Given the description of an element on the screen output the (x, y) to click on. 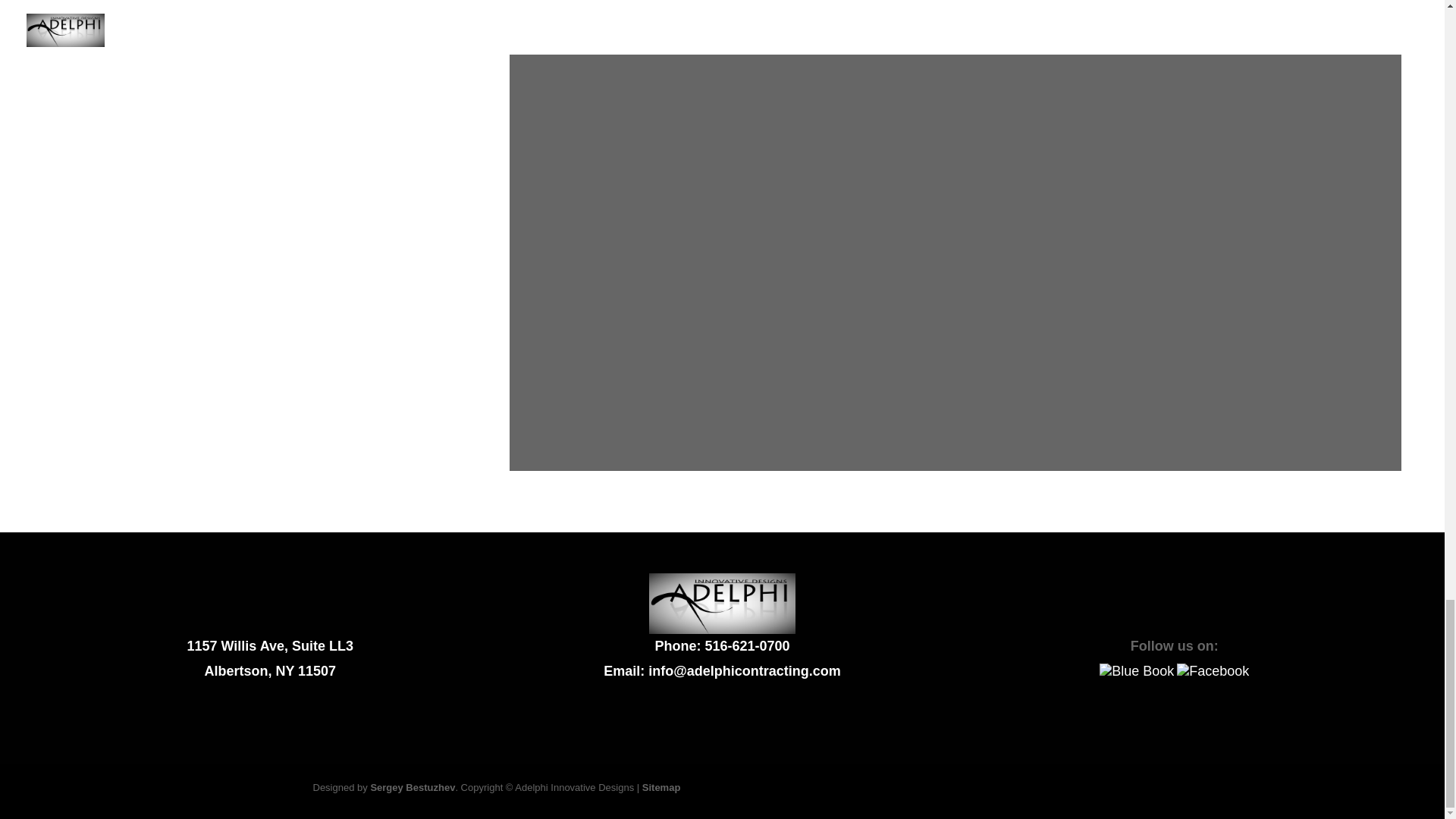
Sergey Bestuzhev (411, 787)
Blue Book (1135, 670)
Sitemap (661, 787)
Blue Book (1136, 671)
Facebook (1212, 671)
Facebook (1212, 670)
